Given the description of an element on the screen output the (x, y) to click on. 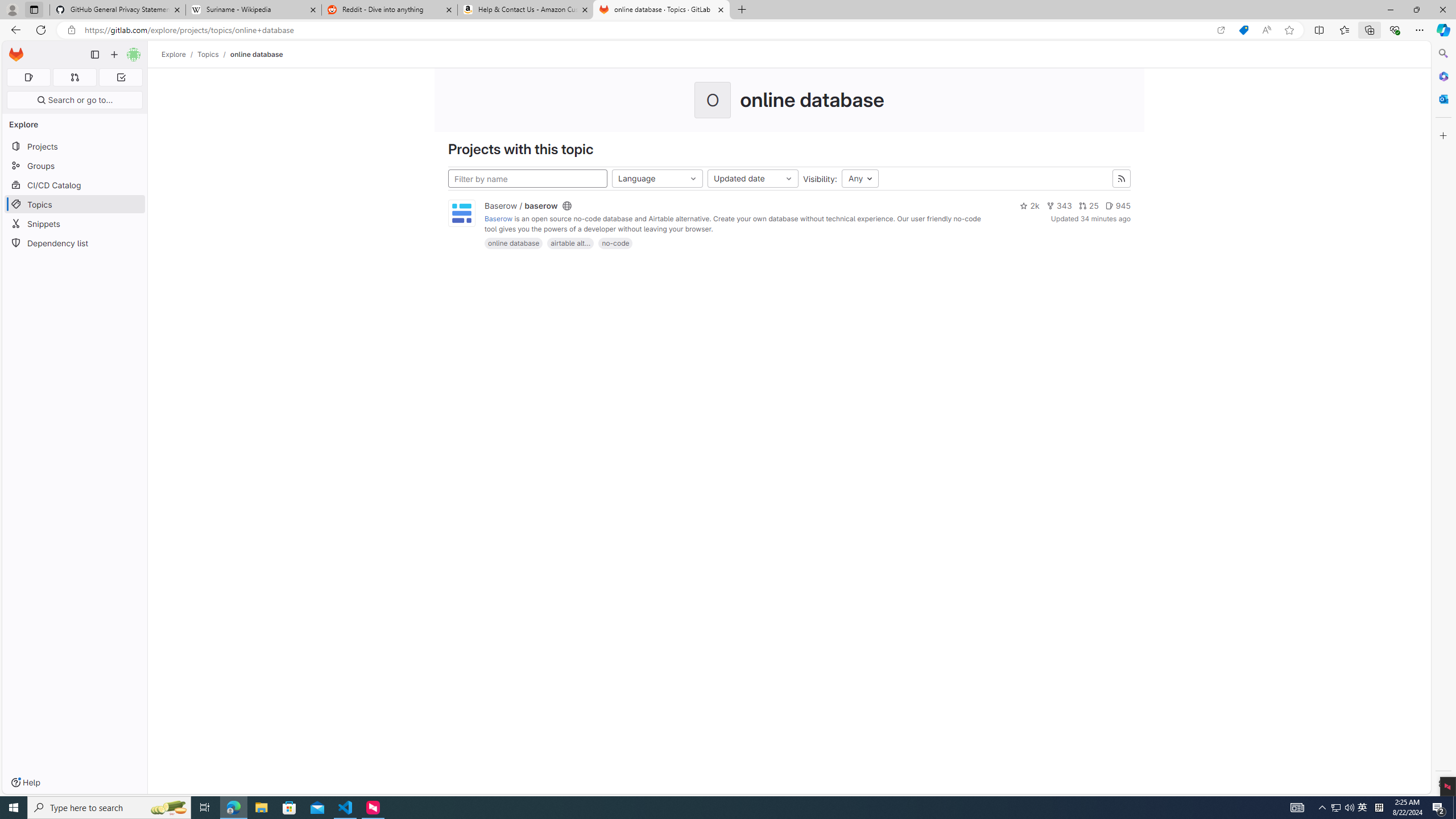
Groups (74, 165)
